Given the description of an element on the screen output the (x, y) to click on. 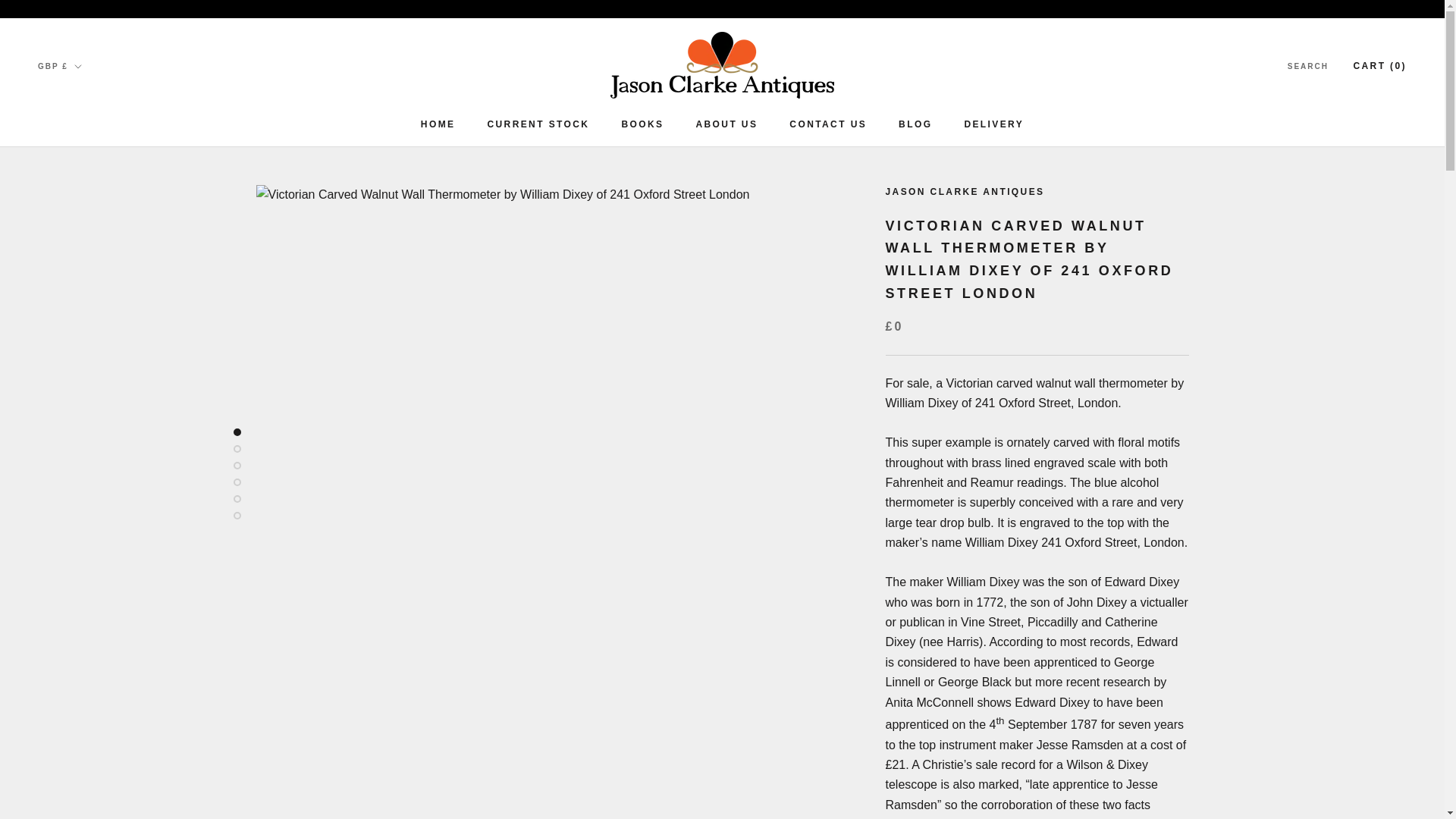
BBD (827, 123)
BIF (85, 280)
BDT (85, 340)
BSD (85, 299)
BAM (85, 400)
AMD (85, 259)
ANG (85, 159)
AUD (85, 178)
AZN (914, 123)
ALL (726, 123)
